Given the description of an element on the screen output the (x, y) to click on. 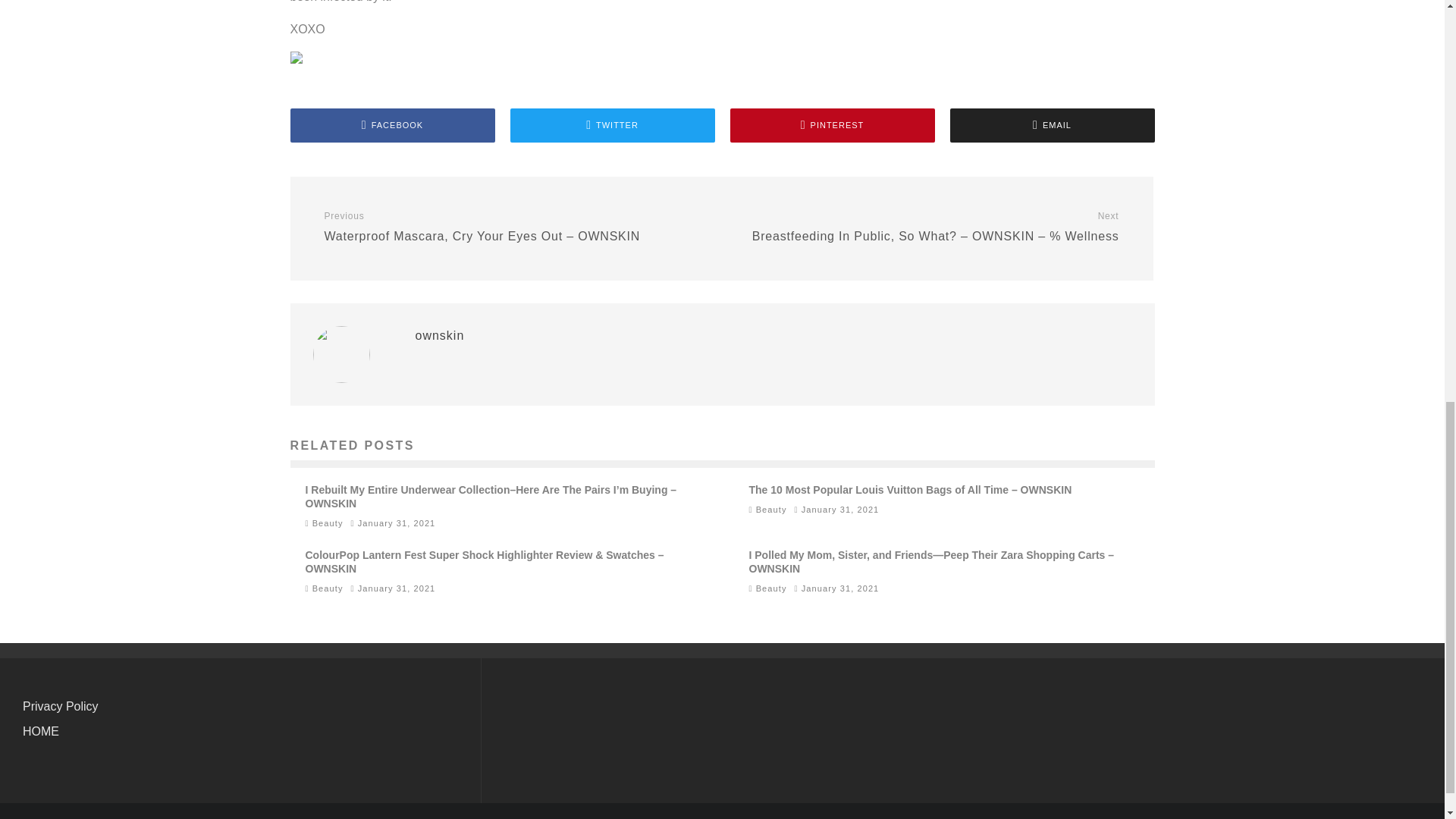
FACEBOOK (392, 125)
Privacy Policy (61, 706)
Beauty (328, 588)
EMAIL (1051, 125)
Beauty (328, 522)
Beauty (771, 588)
HOME (41, 730)
PINTEREST (831, 125)
ownskin (439, 335)
Beauty (771, 509)
TWITTER (611, 125)
